Given the description of an element on the screen output the (x, y) to click on. 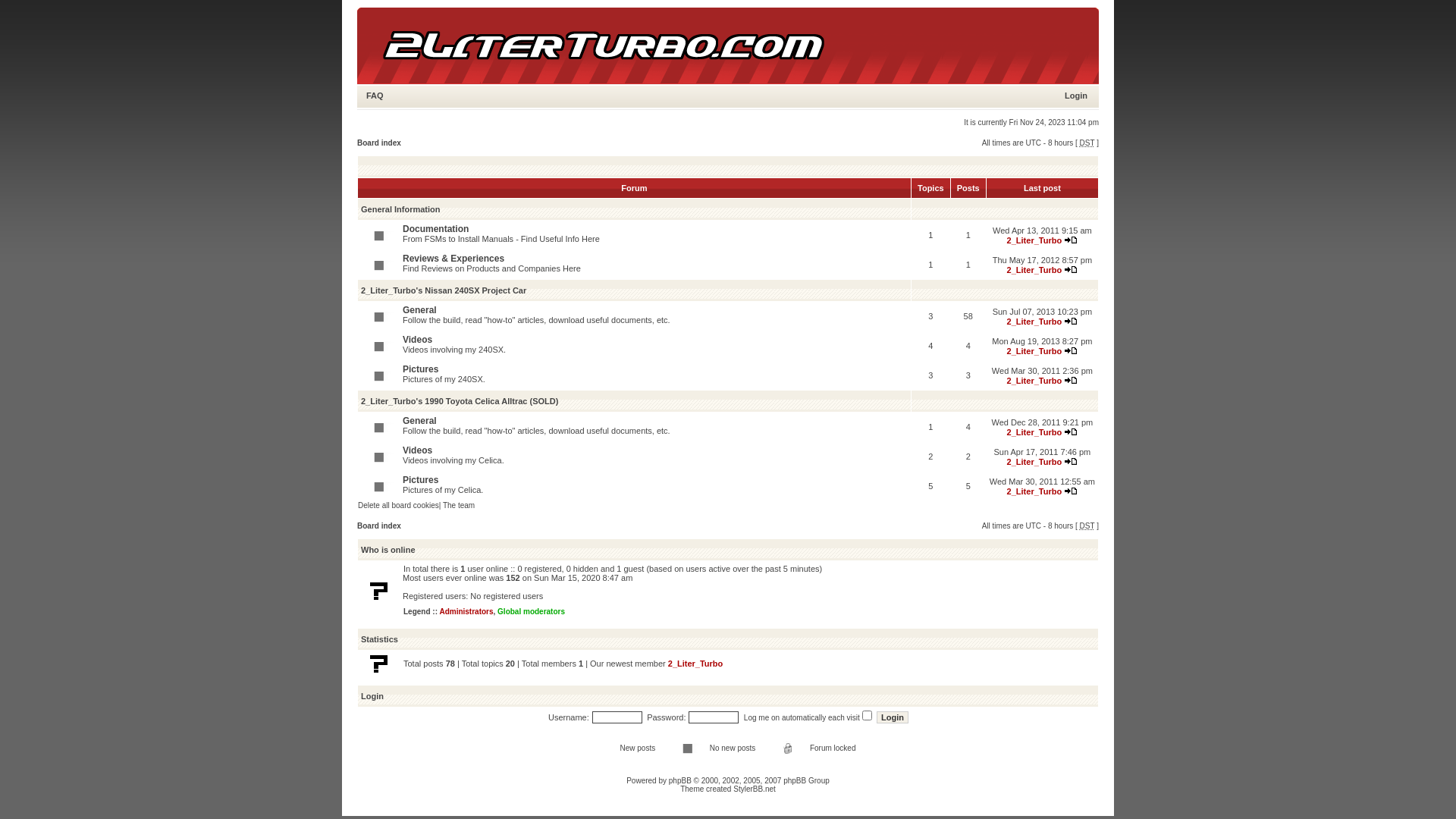
View the latest post Element type: hover (1070, 430)
No unread posts [ Locked ] Element type: hover (786, 747)
No unread posts Element type: hover (377, 263)
2_Liter_Turbo's Nissan 240SX Project Car Element type: text (443, 289)
2_Liter_Turbo Element type: text (1034, 239)
2_Liter_Turbo Element type: text (695, 662)
View the latest post Element type: hover (1070, 319)
No unread posts Element type: hover (377, 456)
Login Element type: text (892, 717)
2_Liter_Turbo Element type: text (1034, 460)
No unread posts Element type: hover (377, 485)
General Information Element type: text (400, 208)
No unread posts Element type: hover (377, 426)
The team Element type: text (458, 505)
Administrators Element type: text (465, 611)
Pictures Element type: text (420, 479)
No unread posts Element type: hover (377, 315)
No unread posts Element type: hover (377, 234)
Global moderators Element type: text (530, 611)
phpBB Element type: text (679, 780)
2_Liter_Turbo Element type: text (1034, 321)
2_Liter_Turbo Element type: text (1034, 431)
Delete all board cookies Element type: text (398, 505)
No unread posts Element type: hover (686, 747)
Login Element type: text (371, 695)
2_Liter_Turbo's 1990 Toyota Celica Alltrac (SOLD) Element type: text (459, 400)
Pictures Element type: text (420, 369)
Board index Element type: text (379, 142)
General Element type: text (419, 309)
2_Liter_Turbo Element type: text (1034, 380)
Board index Element type: text (379, 525)
2_Liter_Turbo Element type: text (1034, 269)
General Element type: text (419, 420)
Reviews & Experiences Element type: text (453, 258)
Videos Element type: text (417, 339)
View the latest post Element type: hover (1070, 239)
Login Element type: text (1075, 95)
View the latest post Element type: hover (1070, 461)
View the latest post Element type: hover (1070, 489)
View the latest post Element type: hover (1070, 268)
No unread posts Element type: hover (377, 374)
Documentation Element type: text (435, 228)
Videos Element type: text (417, 450)
2_Liter_Turbo Element type: text (1034, 490)
No unread posts Element type: hover (377, 345)
View the latest post Element type: hover (1070, 379)
FAQ Element type: text (374, 95)
2_Liter_Turbo Element type: text (1034, 349)
View the latest post Element type: hover (1070, 350)
StylerBB.net Element type: text (754, 788)
